Given the description of an element on the screen output the (x, y) to click on. 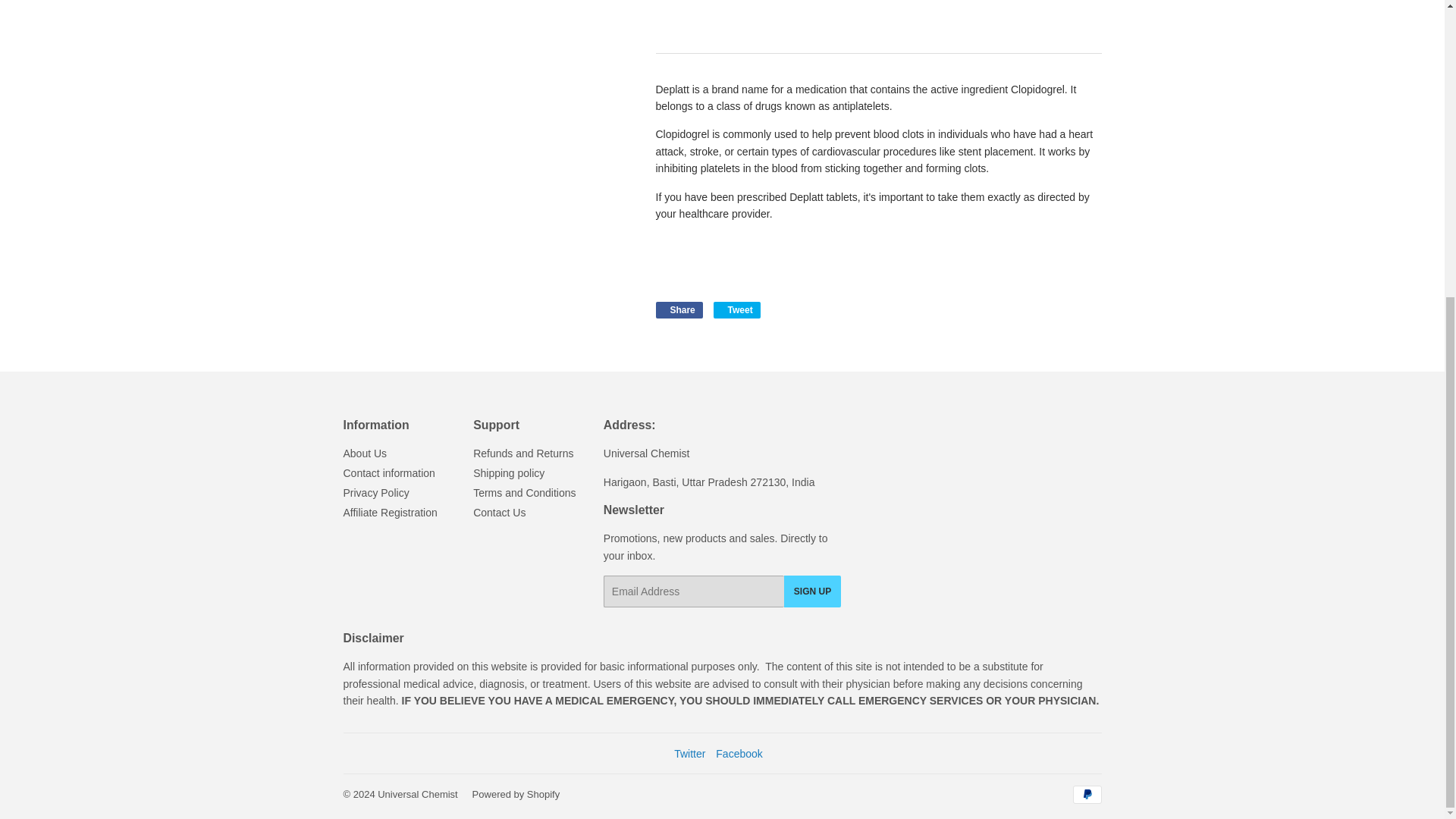
Universal Chemist on Facebook (738, 753)
PayPal (1085, 794)
Tweet on Twitter (736, 310)
Share on Facebook (678, 310)
Universal Chemist on Twitter (689, 753)
